Given the description of an element on the screen output the (x, y) to click on. 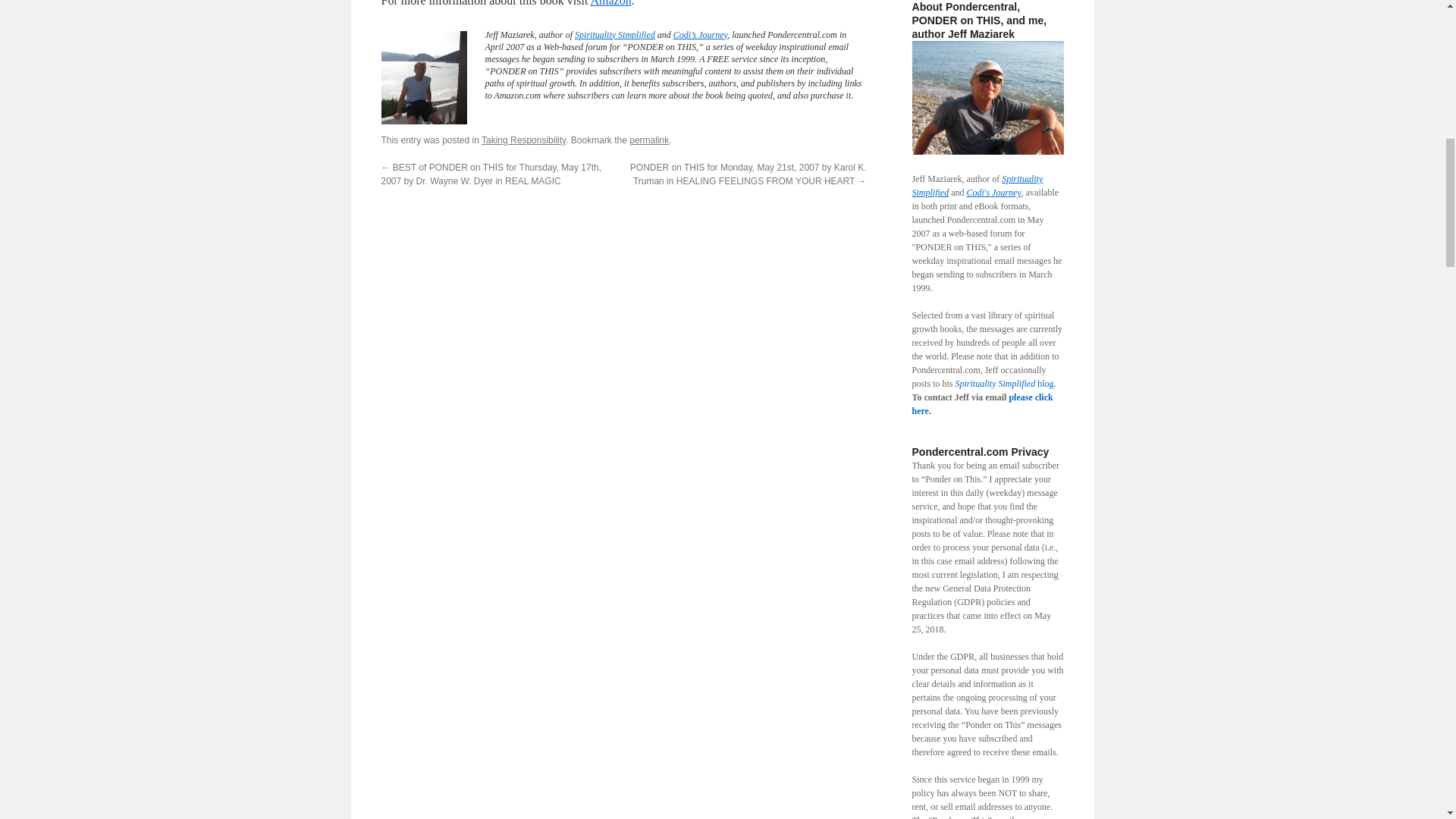
permalink (648, 140)
Spirituality Simplified (976, 185)
Amazon (609, 3)
Spirituality Simplified blog. (1006, 383)
Codi's Journey (993, 192)
please click here. (981, 404)
Taking Responsibility (523, 140)
Spirituality Simplified (615, 34)
